Given the description of an element on the screen output the (x, y) to click on. 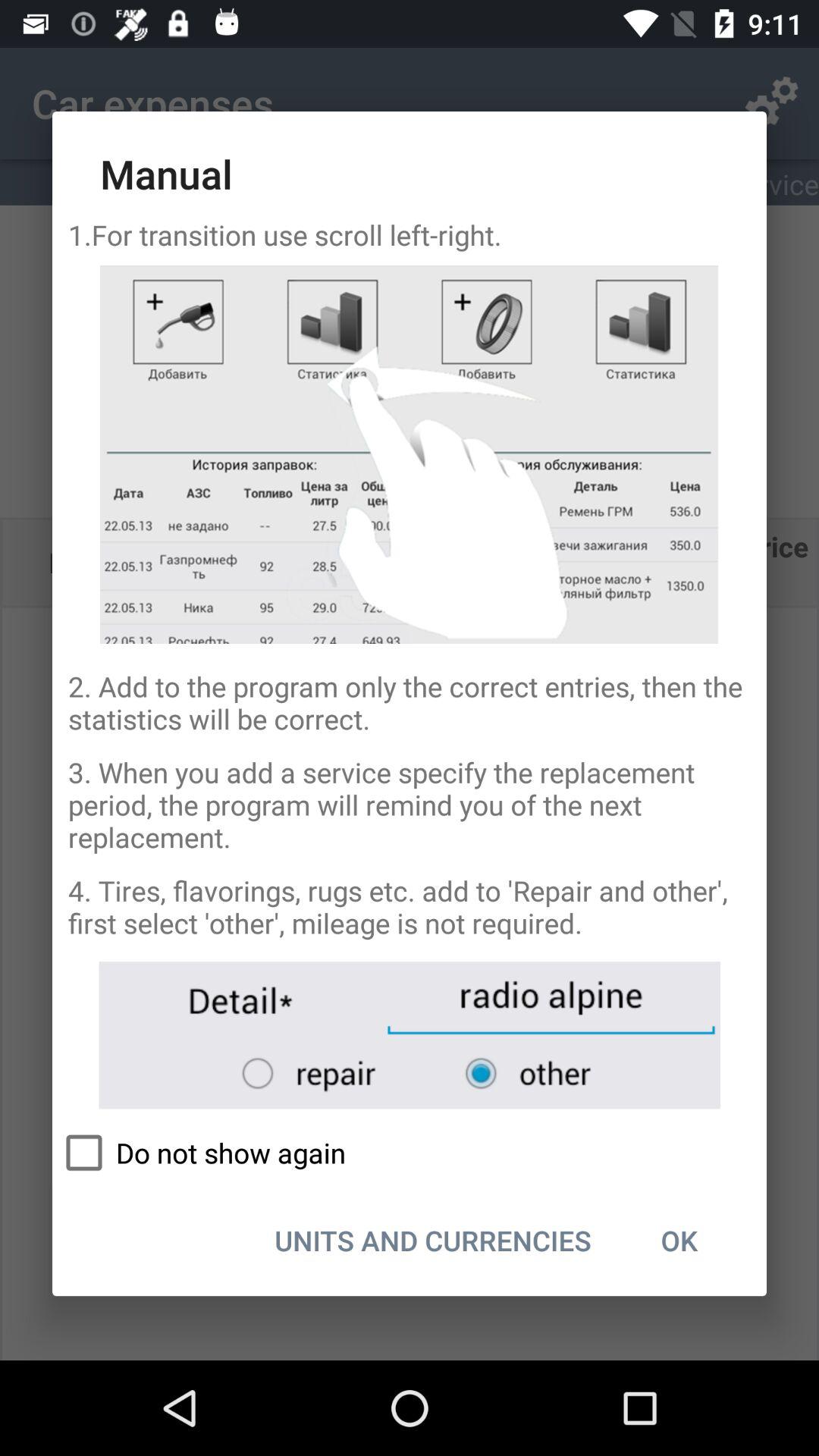
scroll to the units and currencies icon (432, 1240)
